Given the description of an element on the screen output the (x, y) to click on. 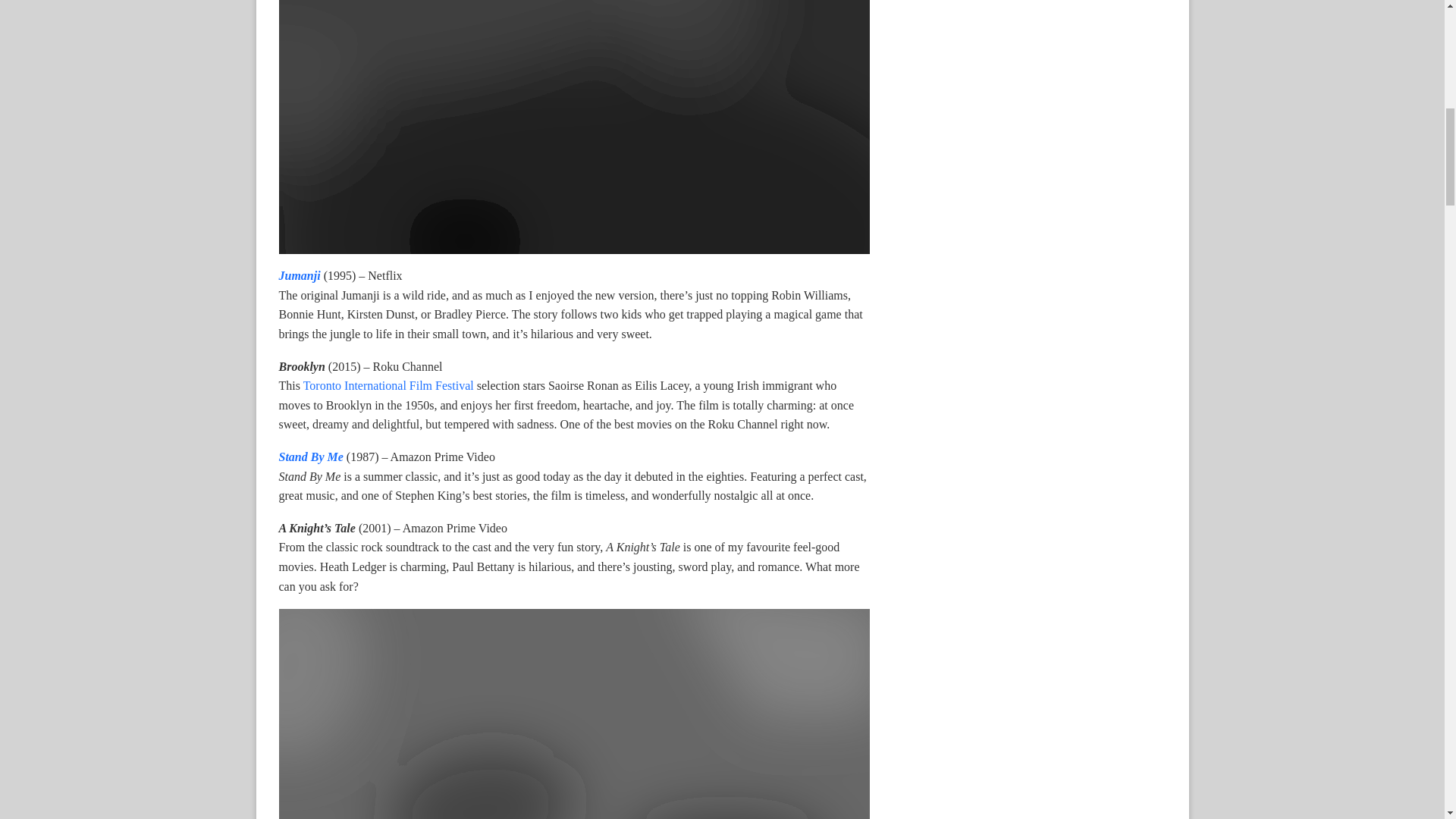
Stand By Me (311, 456)
Jumanji (299, 275)
Toronto International Film Festival (388, 385)
